Given the description of an element on the screen output the (x, y) to click on. 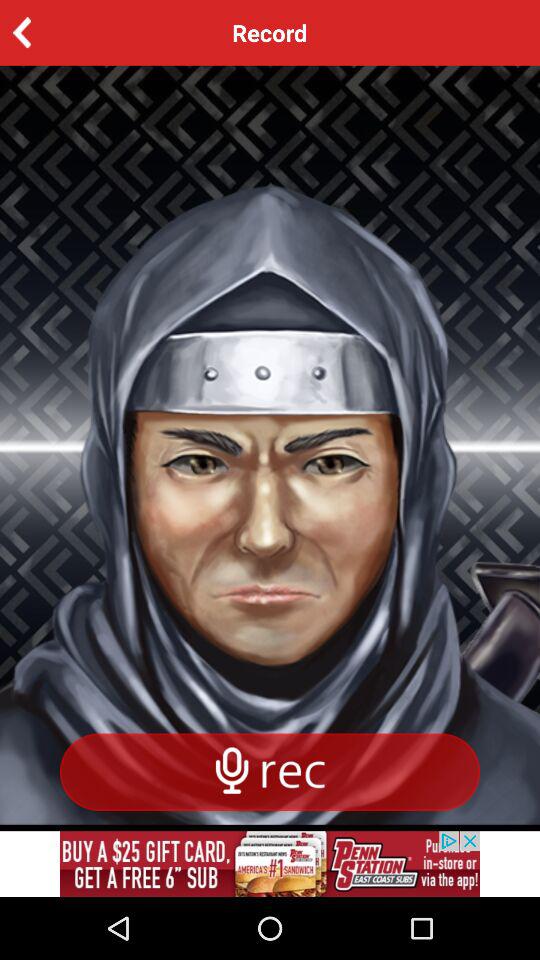
go to previous (52, 32)
